Given the description of an element on the screen output the (x, y) to click on. 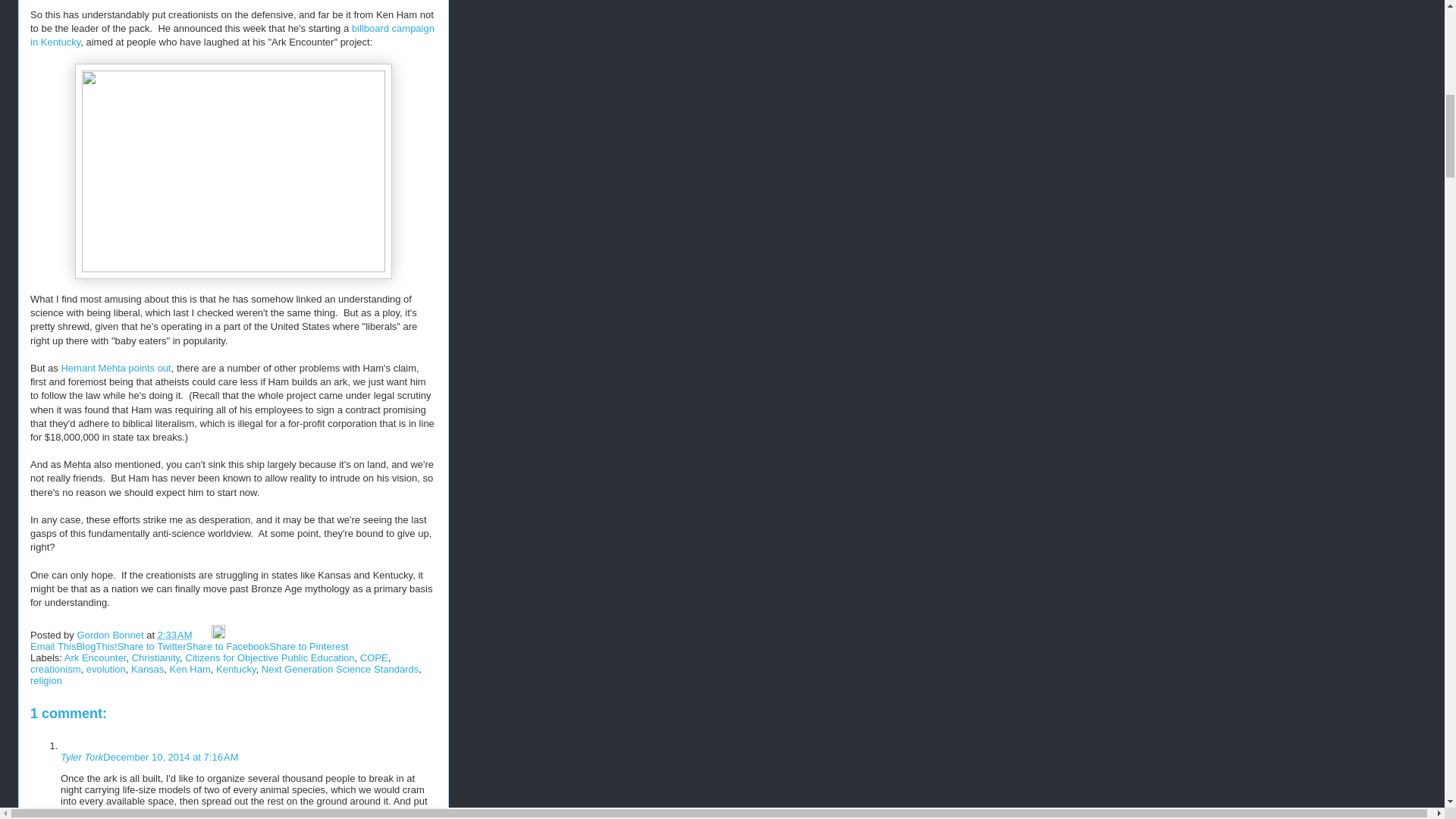
Christianity (155, 657)
Email Post (203, 634)
Share to Facebook (227, 645)
Ken Ham (190, 668)
evolution (105, 668)
Kansas (147, 668)
BlogThis! (95, 645)
Email This (52, 645)
Citizens for Objective Public Education (268, 657)
Hemant Mehta points out (115, 367)
Share to Pinterest (308, 645)
Gordon Bonnet (112, 634)
Ark Encounter (95, 657)
Next Generation Science Standards (340, 668)
